Given the description of an element on the screen output the (x, y) to click on. 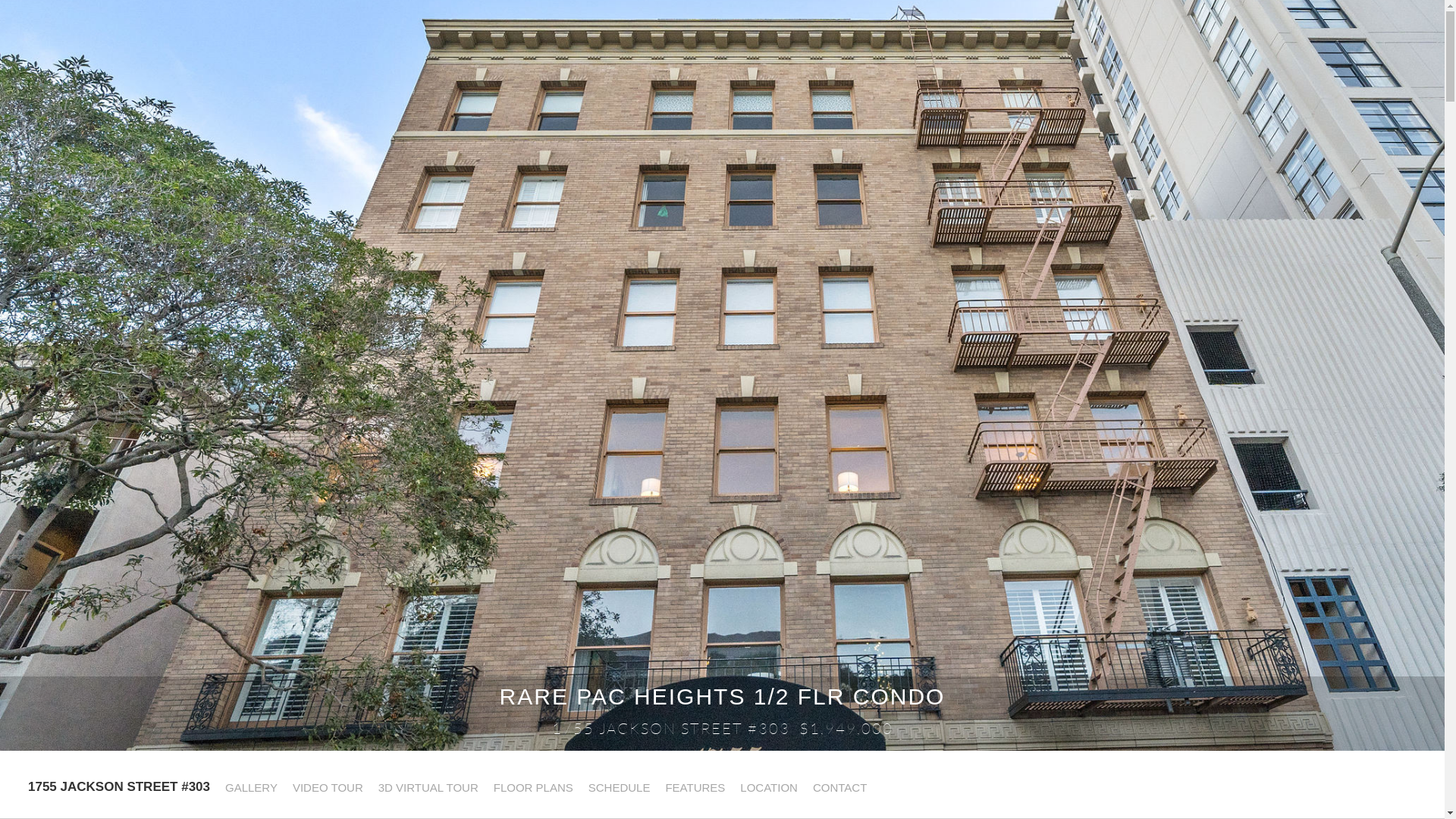
FLOOR PLANS Element type: text (532, 787)
1755 JACKSON STREET #303 Element type: text (117, 785)
SCHEDULE Element type: text (618, 787)
3D VIRTUAL TOUR Element type: text (427, 787)
GALLERY Element type: text (250, 787)
LOCATION Element type: text (767, 787)
FEATURES Element type: text (693, 787)
1755 JACKSON STREET #303  $1,949,000 Element type: text (722, 728)
CONTACT Element type: text (838, 787)
VIDEO TOUR Element type: text (327, 787)
